Given the description of an element on the screen output the (x, y) to click on. 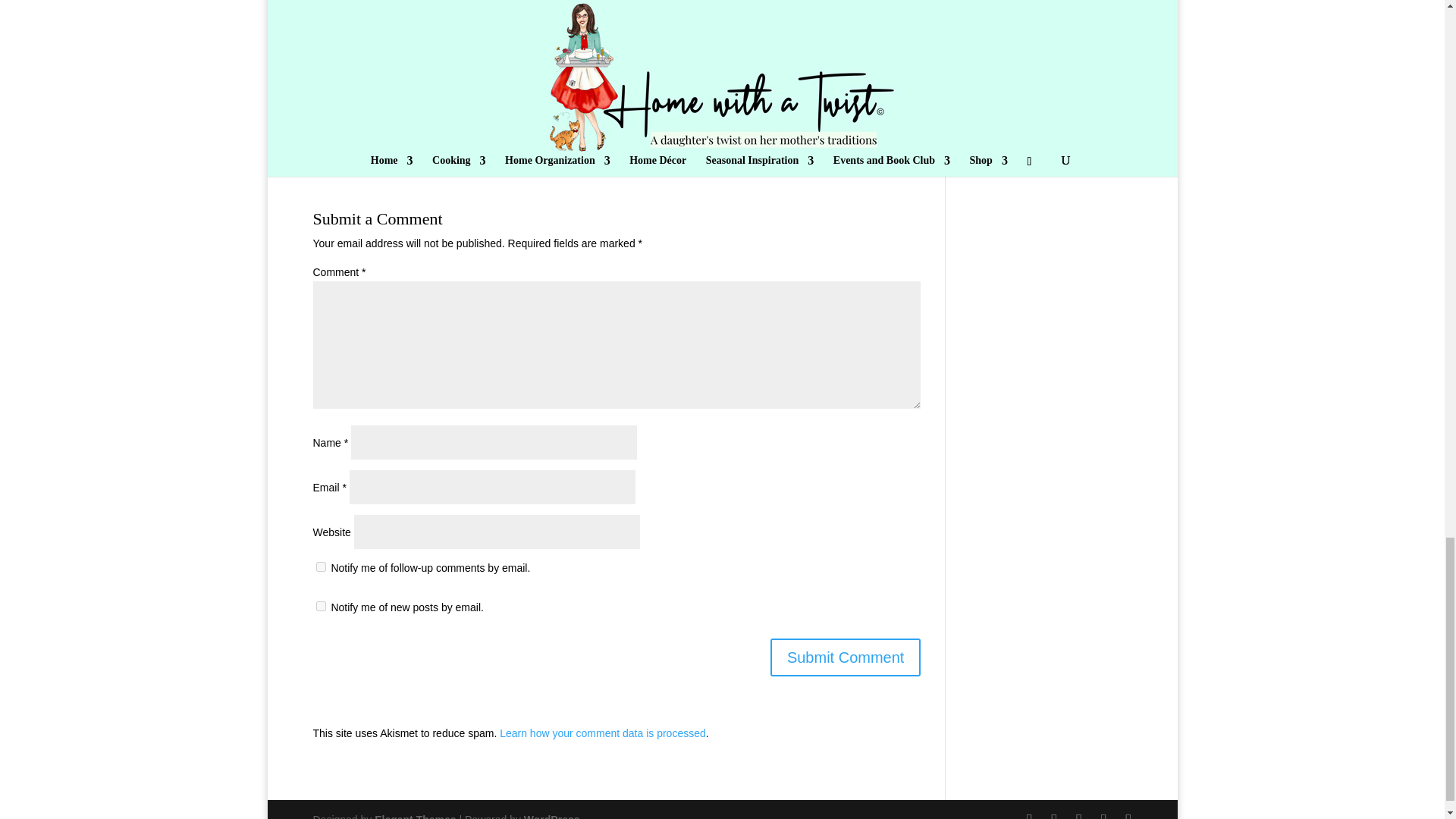
subscribe (319, 566)
Print (530, 109)
Click to print (530, 109)
Submit Comment (845, 657)
Click to share on Pinterest (461, 109)
Facebook (380, 109)
subscribe (319, 605)
Click to share on Facebook (380, 109)
Pinterest (461, 109)
